Given the description of an element on the screen output the (x, y) to click on. 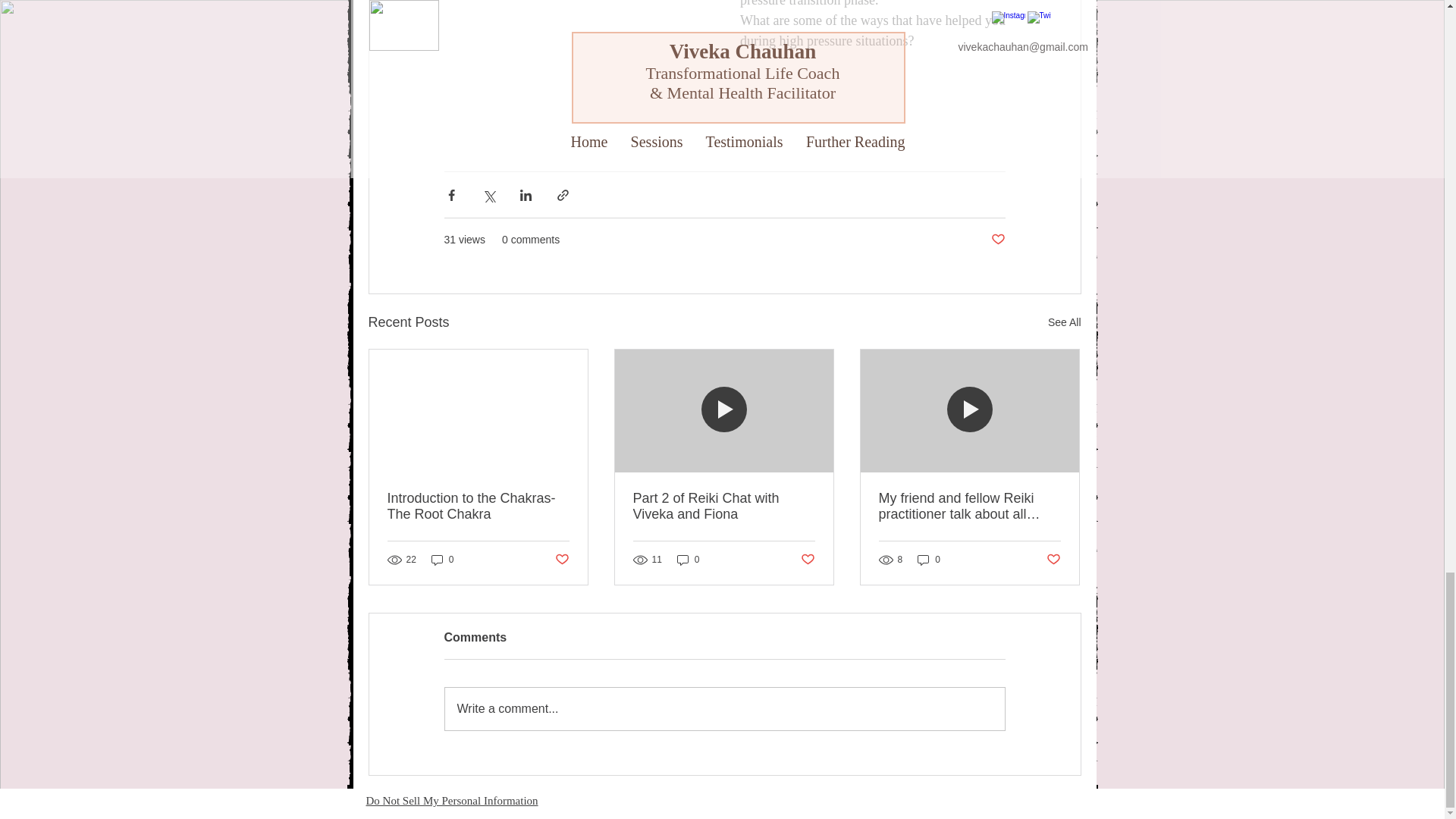
Part 2 of Reiki Chat with Viveka and Fiona (722, 506)
Post not marked as liked (997, 239)
Post not marked as liked (561, 559)
0 (442, 559)
0 (928, 559)
Post not marked as liked (807, 559)
Write a comment... (724, 708)
Do Not Sell My Personal Information (451, 801)
Post not marked as liked (1053, 559)
Introduction to the Chakras- The Root Chakra (478, 506)
0 (688, 559)
See All (1064, 322)
